Given the description of an element on the screen output the (x, y) to click on. 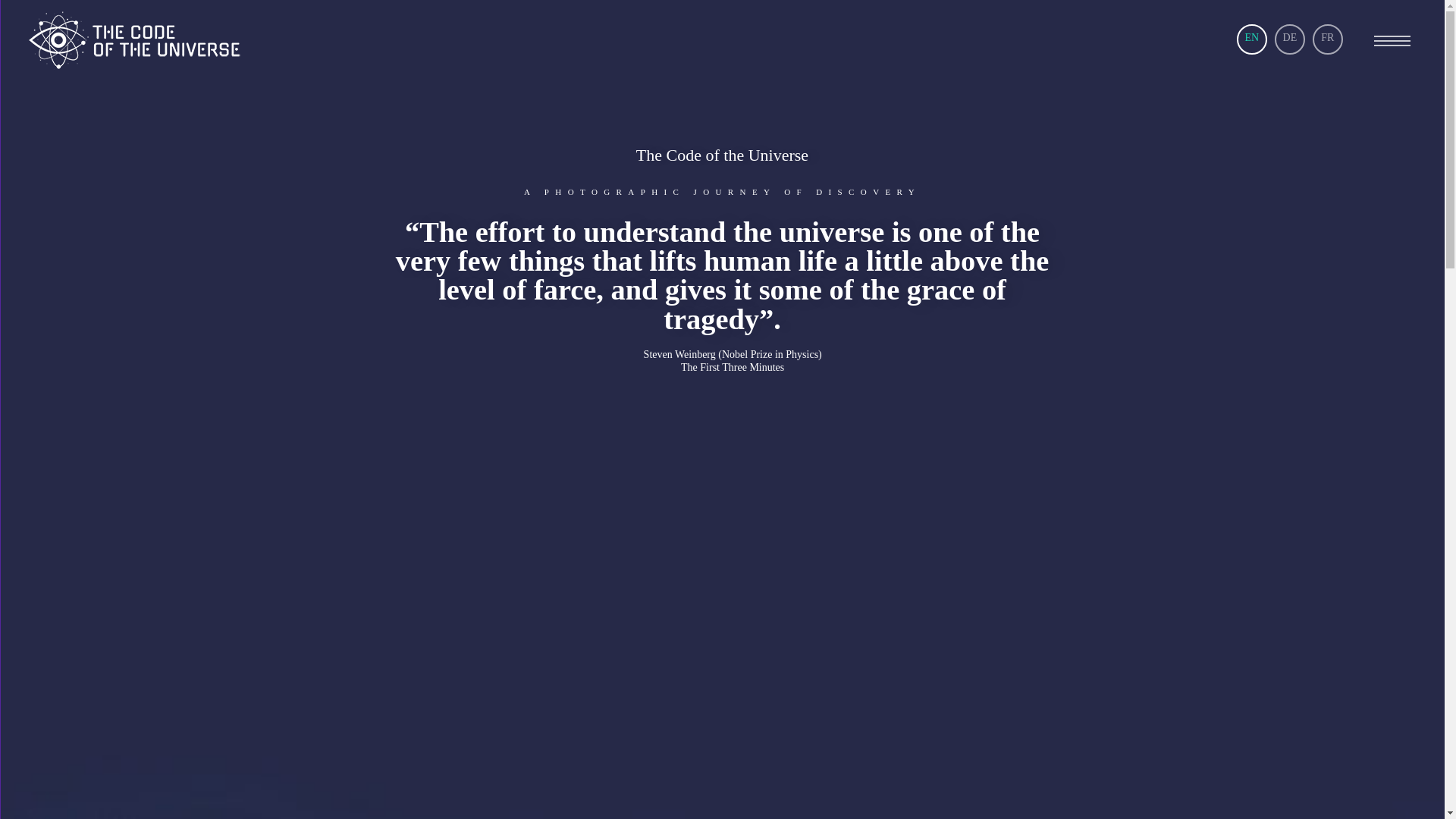
FR Element type: text (1327, 37)
DE Element type: text (1289, 37)
EN Element type: text (1251, 37)
